Given the description of an element on the screen output the (x, y) to click on. 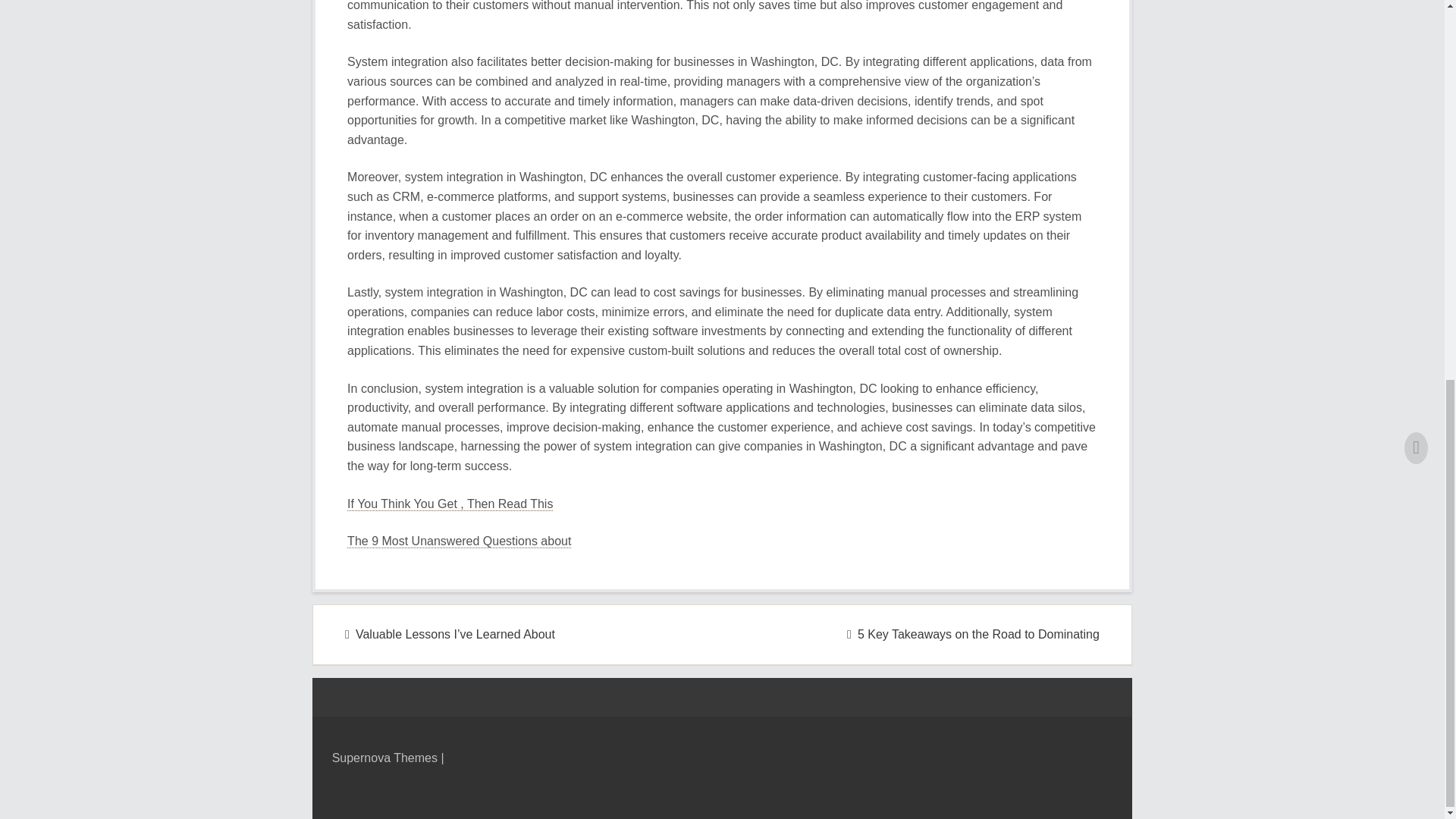
5 Key Takeaways on the Road to Dominating (973, 634)
The 9 Most Unanswered Questions about (458, 540)
If You Think You Get , Then Read This (450, 504)
